Given the description of an element on the screen output the (x, y) to click on. 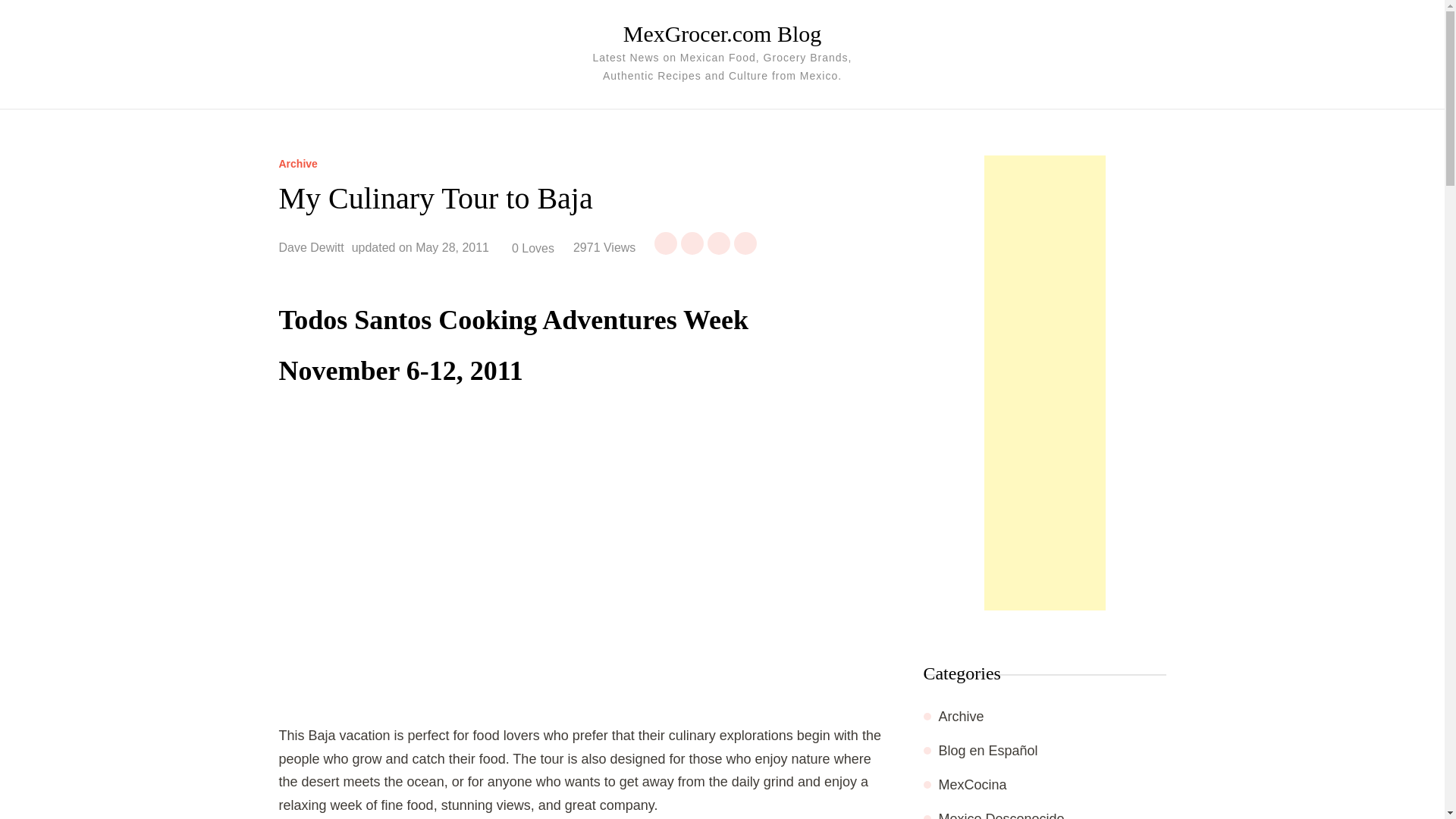
Todos Santos Montage (430, 557)
May 28, 2011 (451, 246)
Archive (298, 163)
Search (926, 485)
Dave Dewitt (311, 246)
MexGrocer.com Blog (722, 33)
